Given the description of an element on the screen output the (x, y) to click on. 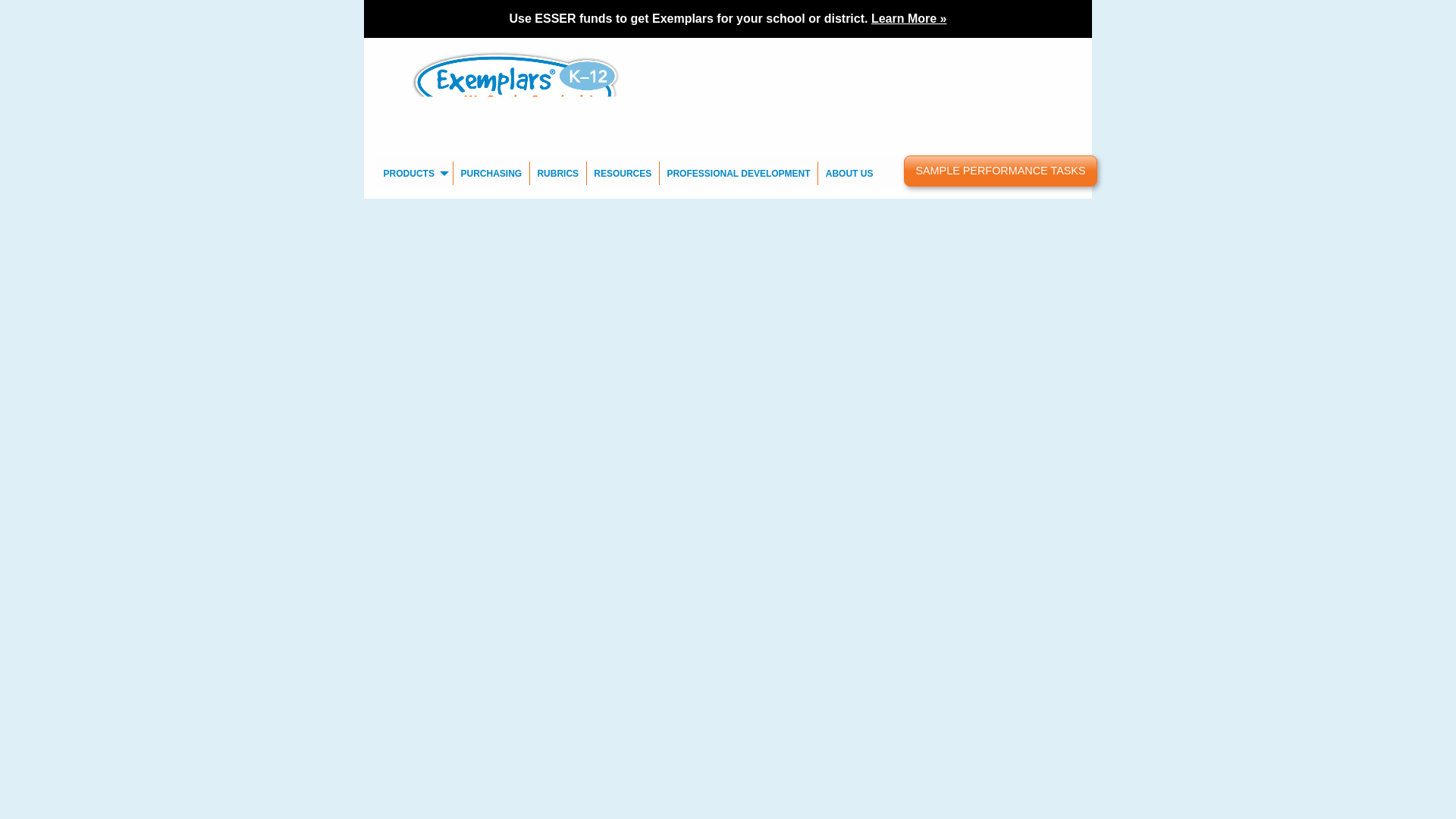
SAMPLE PERFORMANCE TASKS (1000, 170)
PROFESSIONAL DEVELOPMENT (738, 173)
RUBRICS (557, 173)
OUR BLOG (957, 49)
RESOURCES (622, 173)
PRODUCTS (413, 173)
ABOUT US (849, 173)
CONTACT US (889, 49)
LIBRARY LOGIN (1031, 49)
PURCHASING (490, 173)
